Given the description of an element on the screen output the (x, y) to click on. 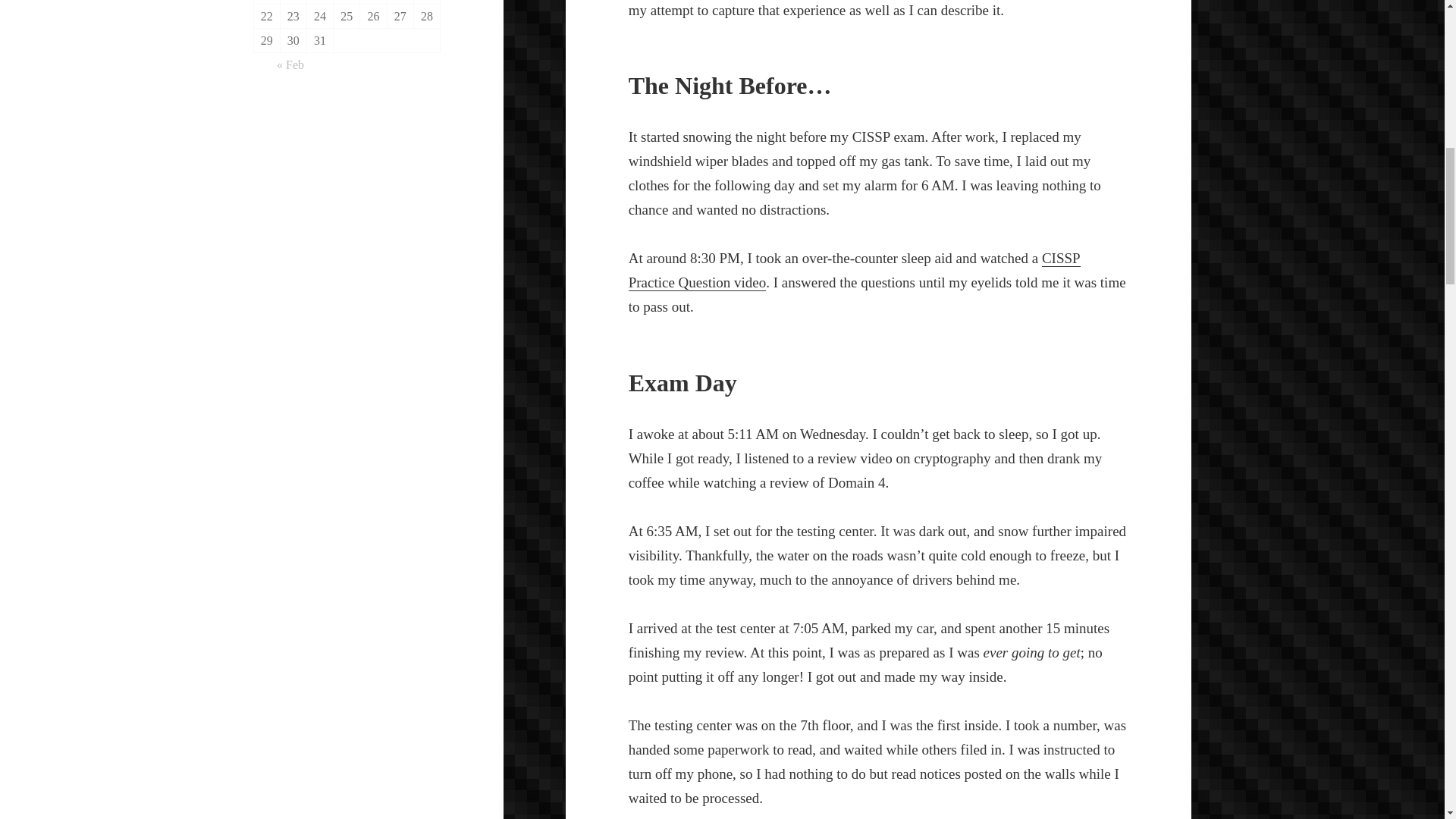
CISSP Practice Question video (854, 270)
